Given the description of an element on the screen output the (x, y) to click on. 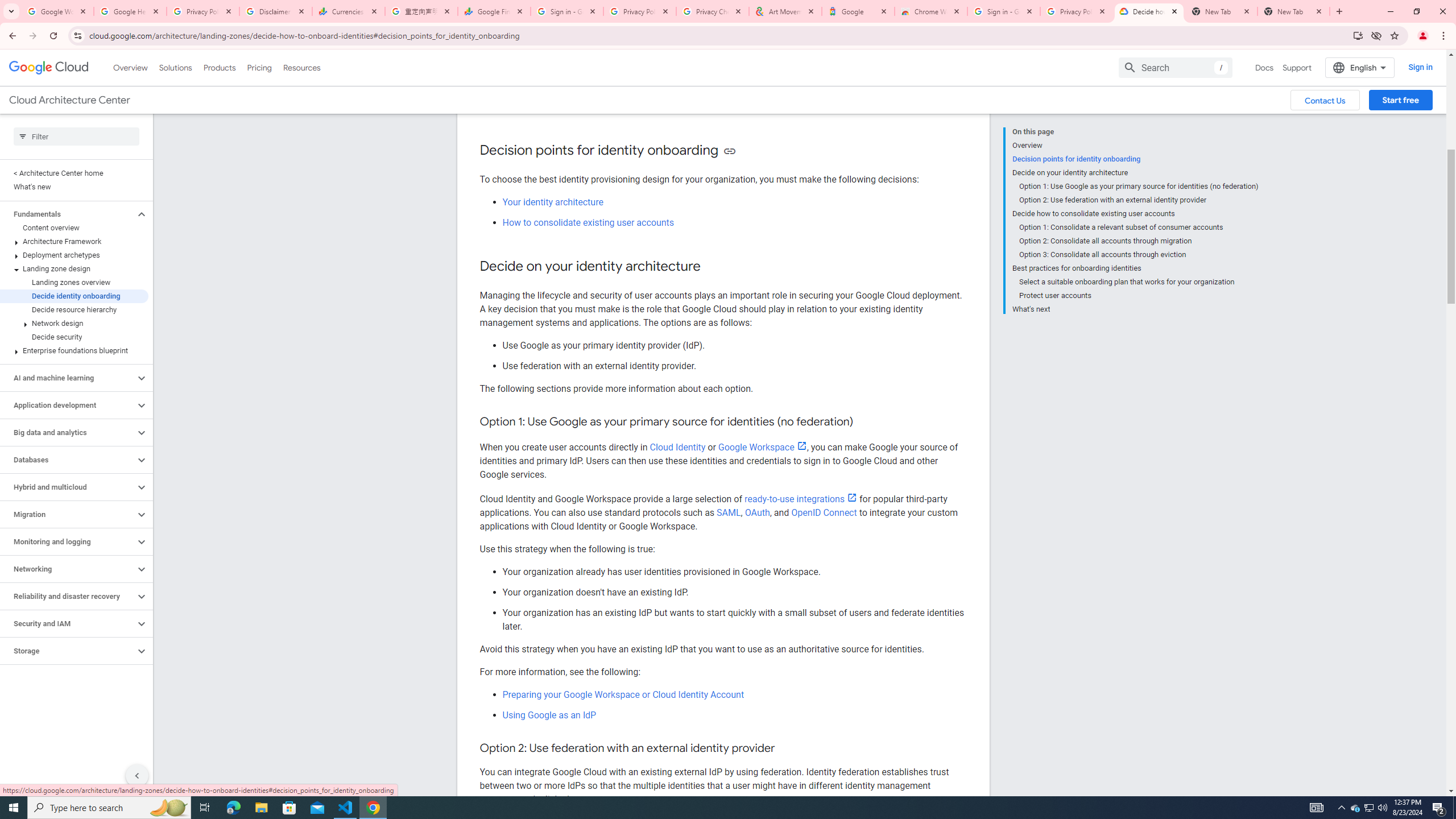
Start free (1400, 100)
Deployment archetypes (74, 255)
Using Google as an IdP (549, 715)
Option 2: Use federation with an external identity provider (1138, 200)
Sign in - Google Accounts (1003, 11)
Hide side navigation (136, 775)
How to consolidate existing user accounts (588, 222)
Landing zone design (74, 269)
